Given the description of an element on the screen output the (x, y) to click on. 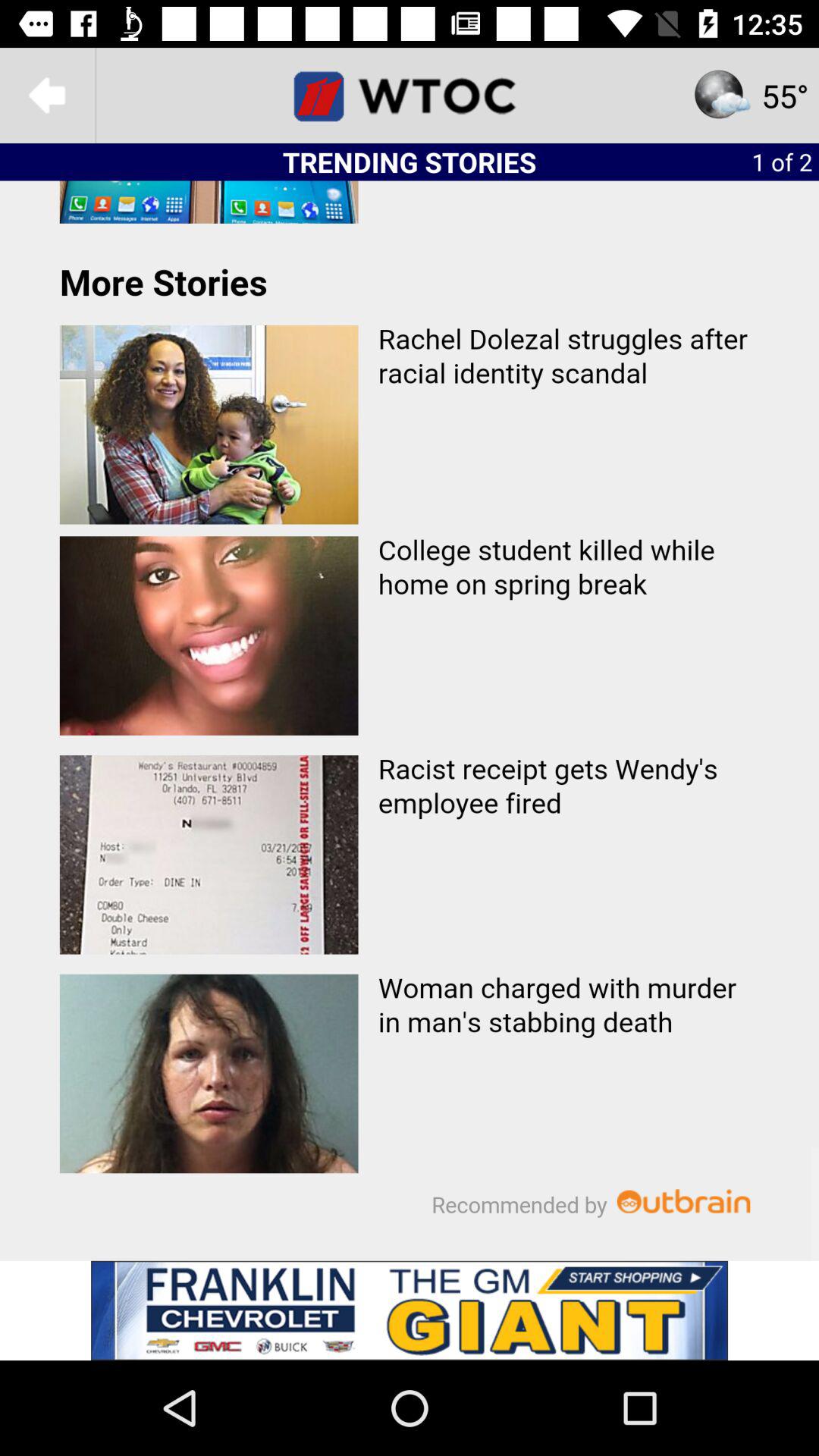
go to home page for wtoc (409, 95)
